Given the description of an element on the screen output the (x, y) to click on. 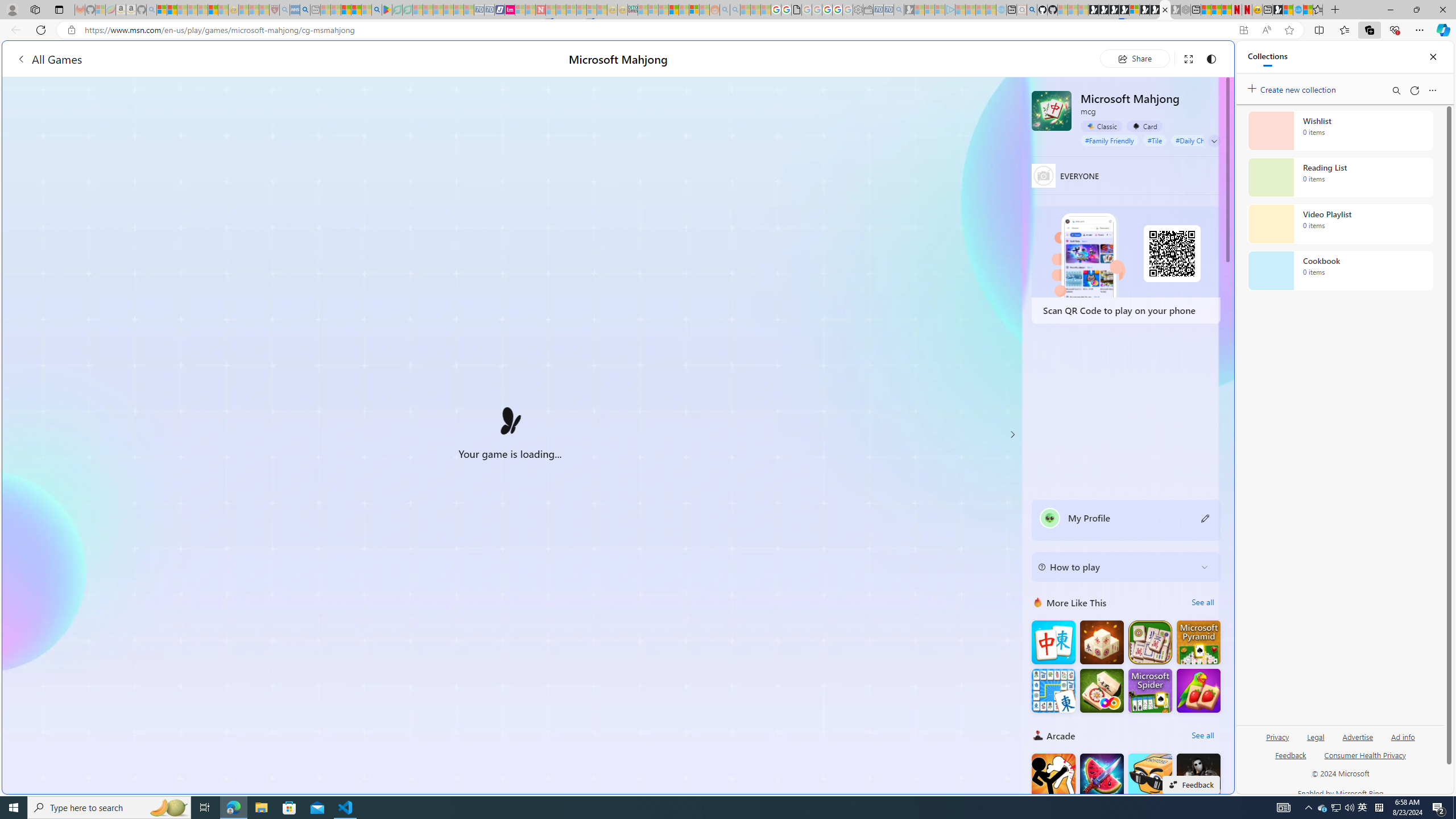
Jobs - lastminute.com Investor Portal (509, 9)
Mahjong 3D Connect (1101, 642)
All Games (216, 58)
Tabs you've opened (885, 151)
App available. Install Microsoft Mahjong (1243, 29)
